Given the description of an element on the screen output the (x, y) to click on. 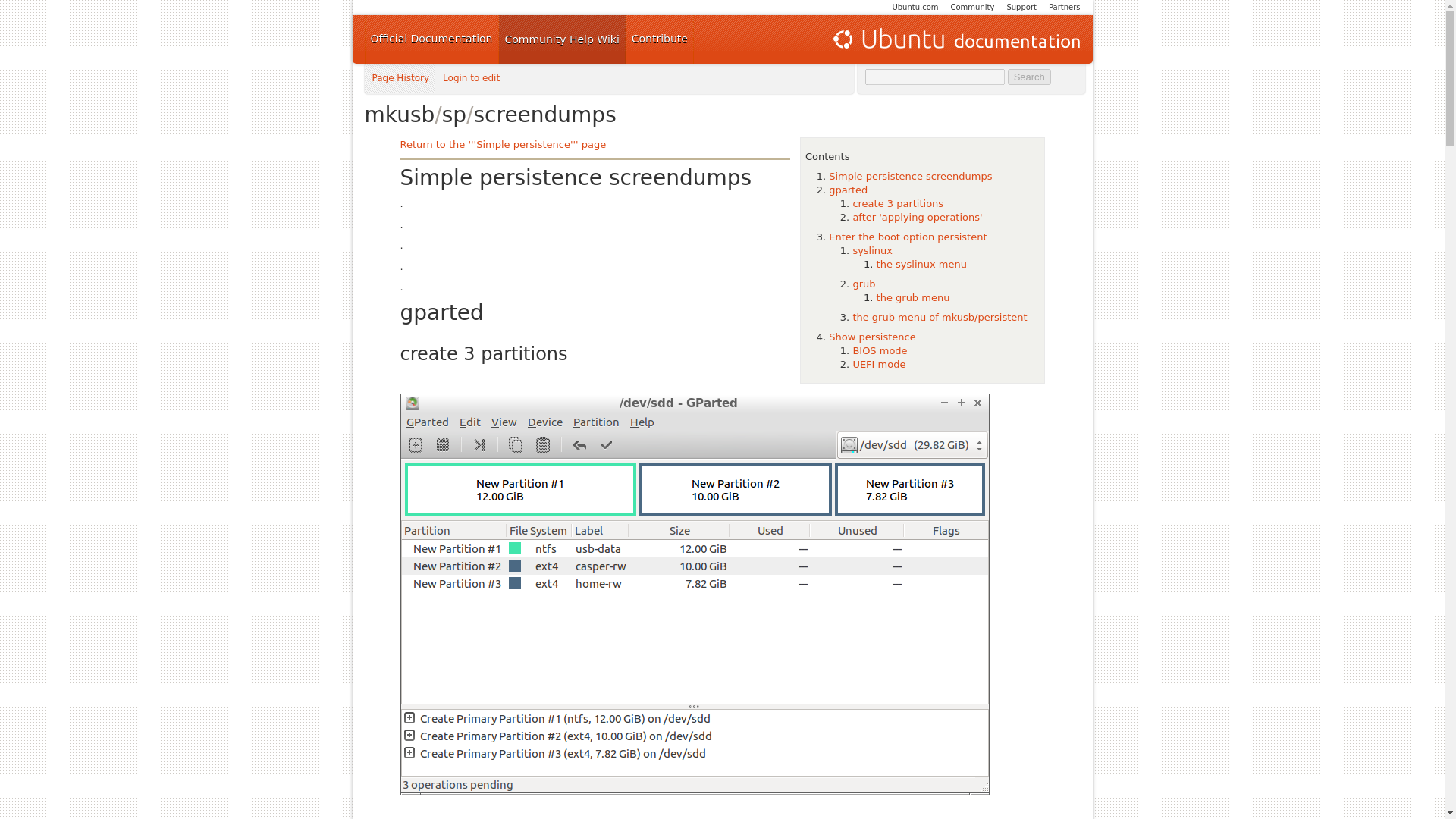
gparted (847, 189)
Official Documentation (430, 38)
Community Help Wiki (562, 39)
Support (1021, 7)
BIOS mode (879, 350)
Ubuntu Documentation (954, 39)
UEFI mode (878, 364)
Contribute (660, 38)
grub (863, 283)
Search (1029, 76)
